Given the description of an element on the screen output the (x, y) to click on. 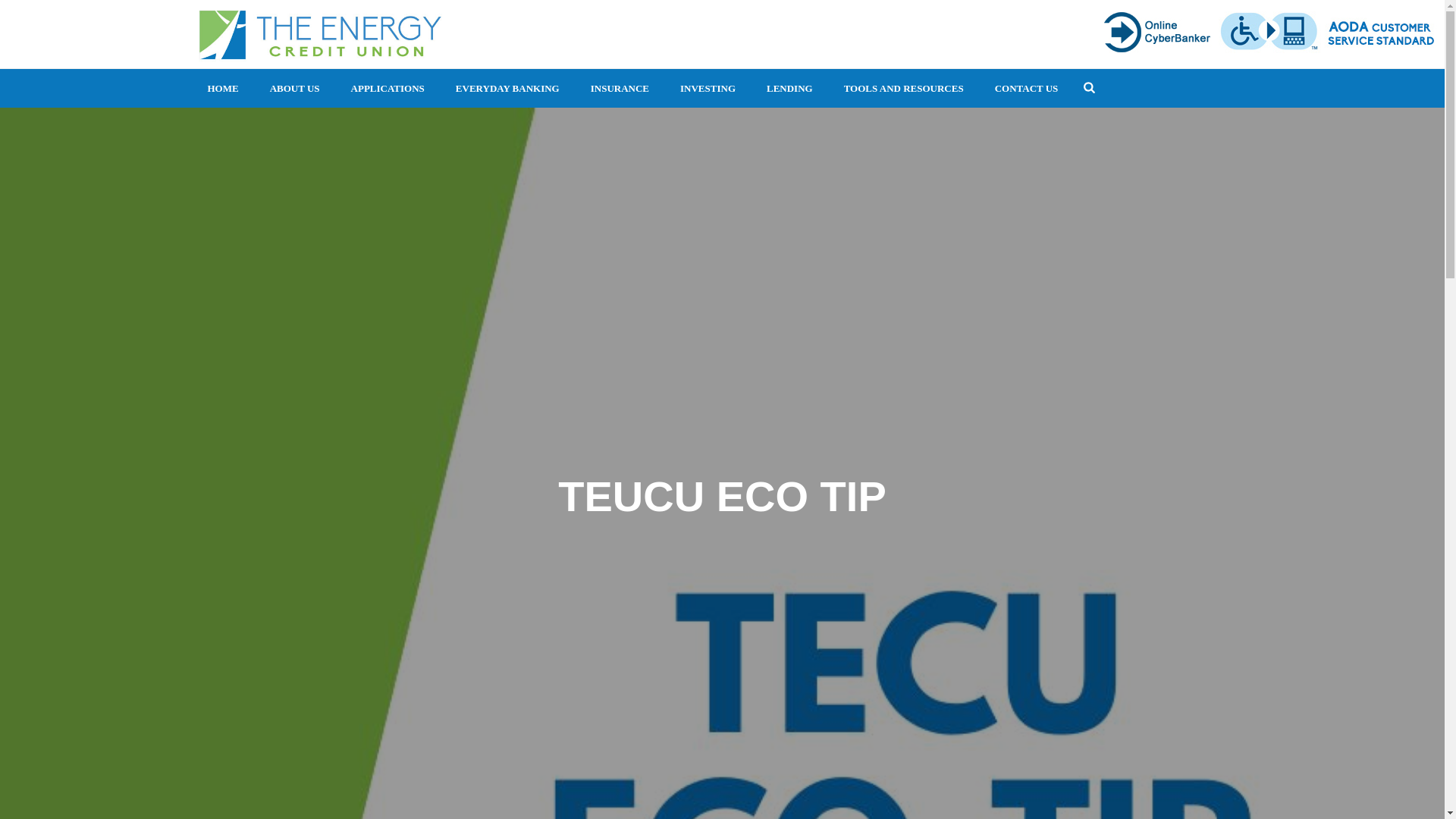
The Energy Credit Union (319, 33)
INVESTING (708, 87)
INVESTING (708, 87)
EVERYDAY BANKING (508, 87)
ABOUT US (294, 87)
HOME (222, 87)
INSURANCE (619, 87)
AODA Customer Service Standard (1380, 32)
ABOUT US (294, 87)
CONTACT US (1026, 87)
INSURANCE (619, 87)
APPLICATIONS (387, 87)
LENDING (789, 87)
Online CyberBanker click here (1158, 32)
CONTACT US (1026, 87)
